Given the description of an element on the screen output the (x, y) to click on. 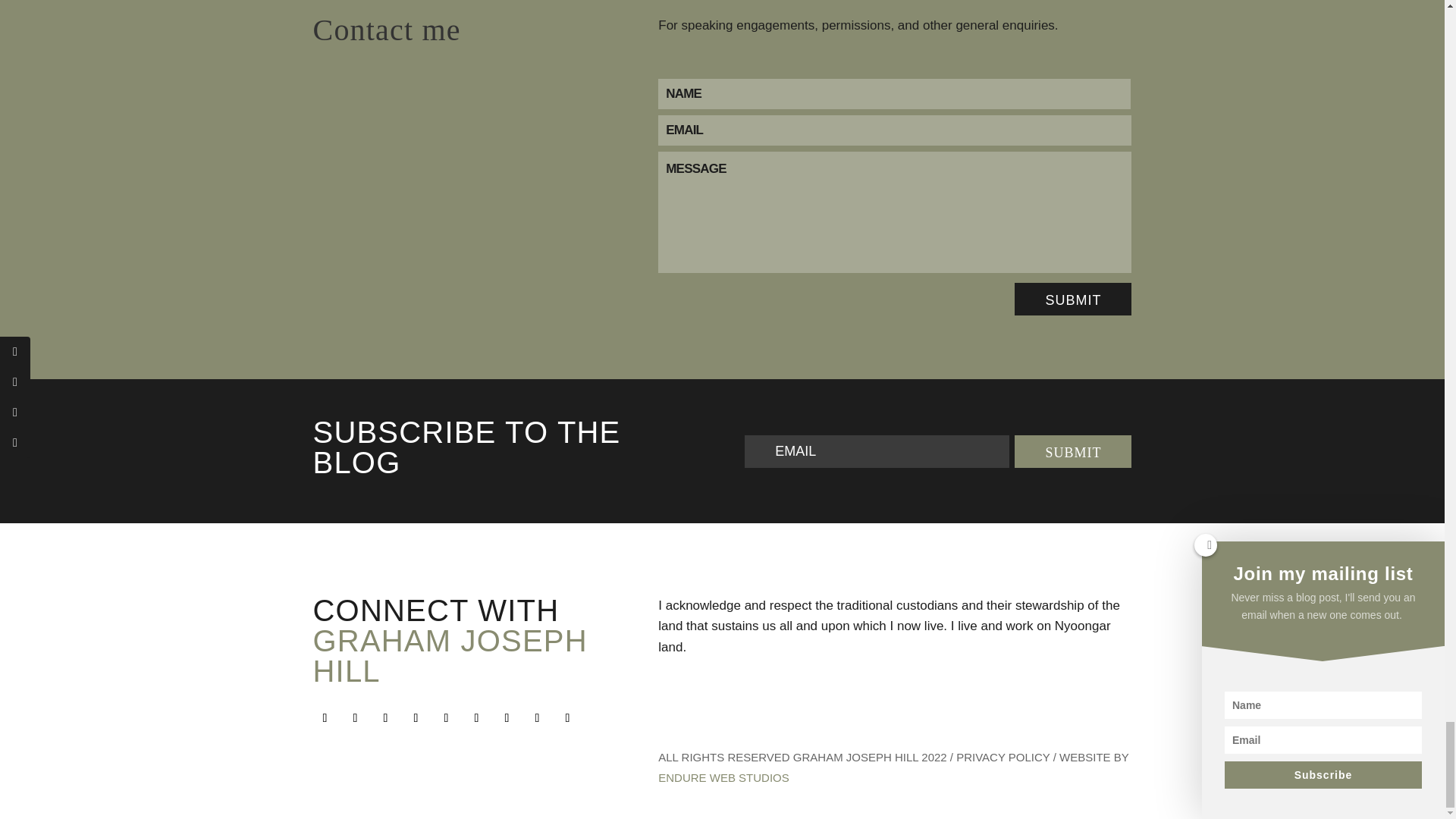
Submit (1072, 450)
Submit (1072, 298)
